Given the description of an element on the screen output the (x, y) to click on. 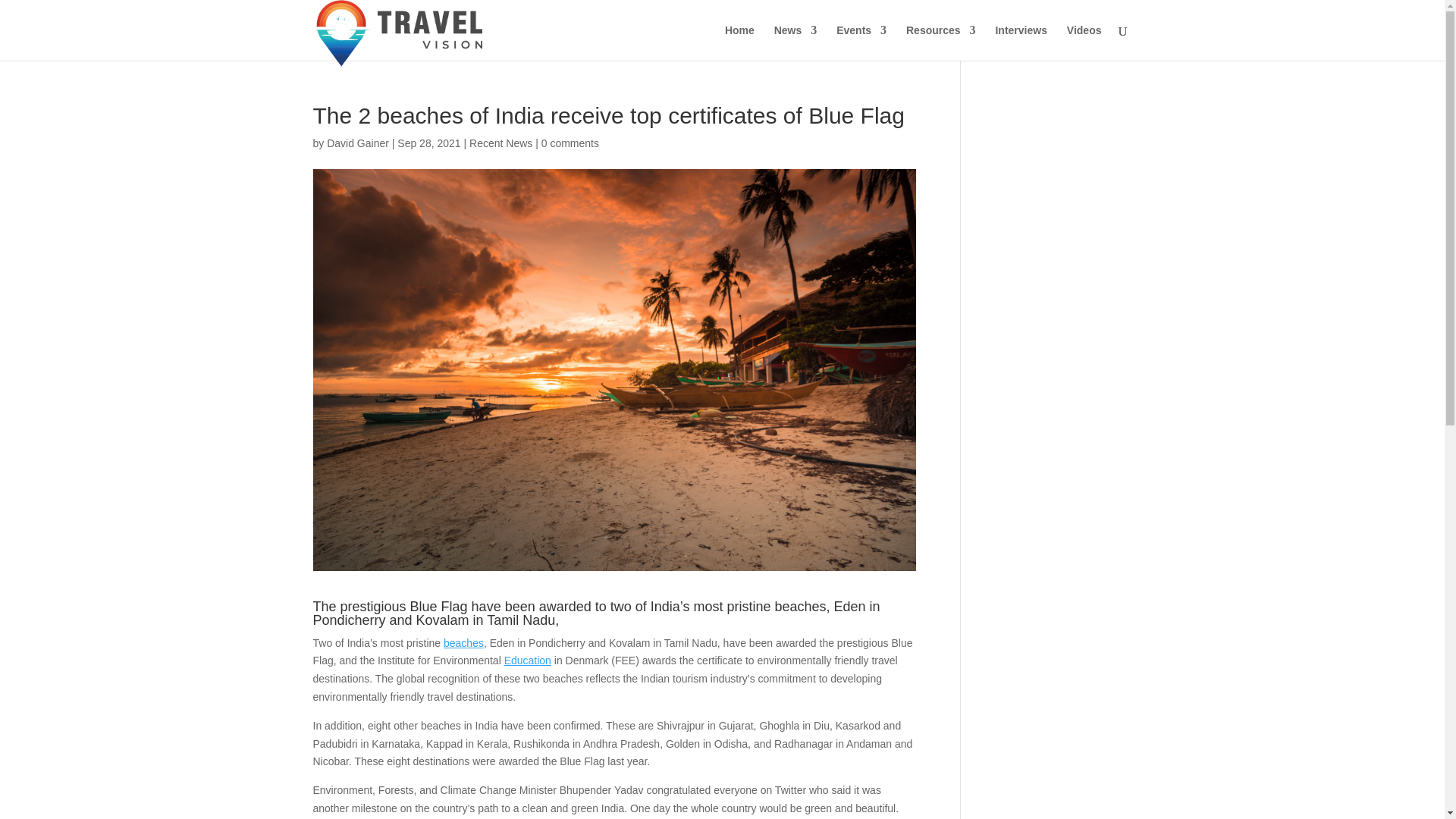
David Gainer (357, 143)
Education (527, 660)
Videos (1084, 42)
News (795, 42)
Recent News (500, 143)
Interviews (1020, 42)
0 comments (569, 143)
beaches (463, 643)
Posts by David Gainer (357, 143)
Resources (940, 42)
Events (860, 42)
